Given the description of an element on the screen output the (x, y) to click on. 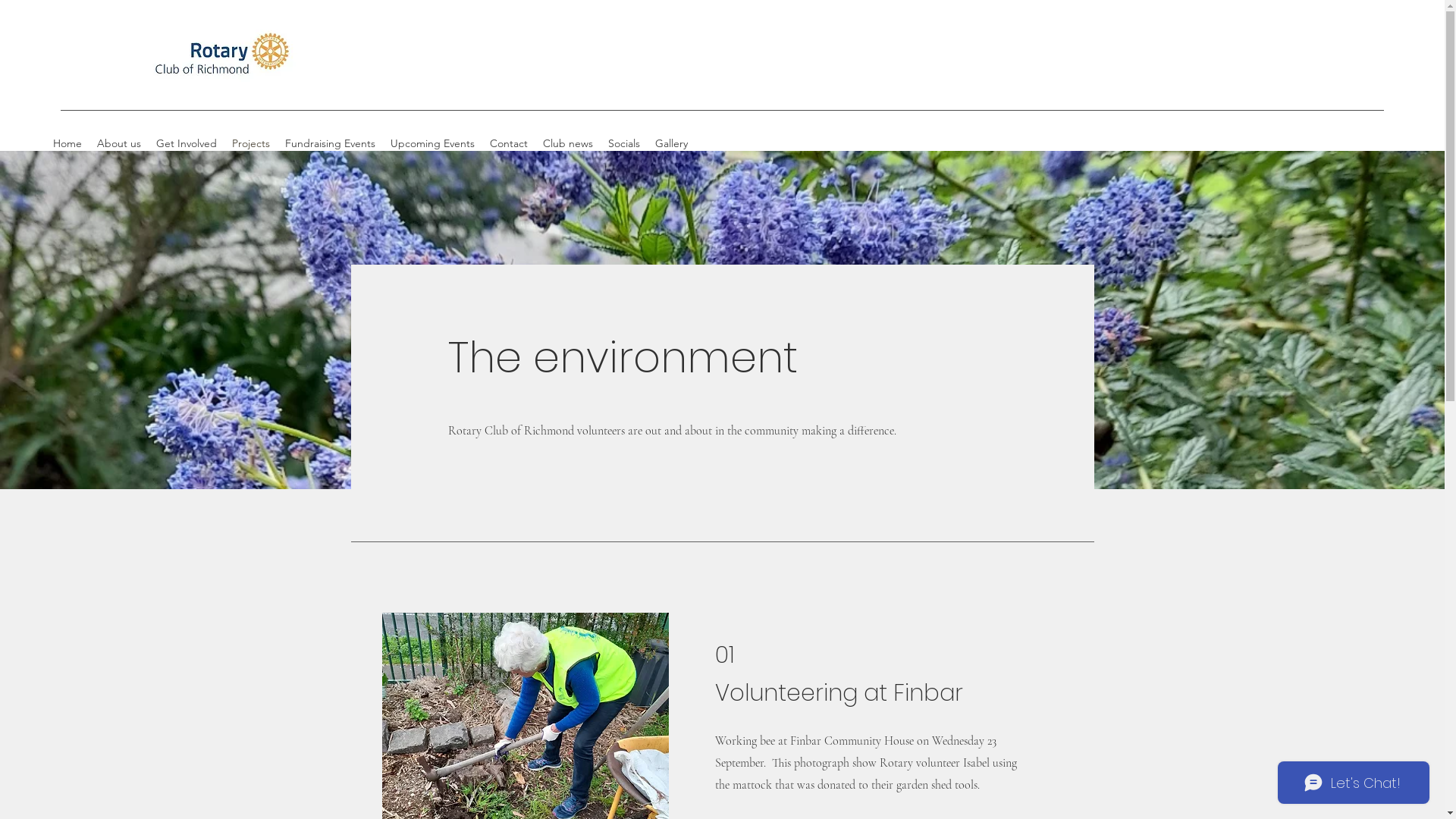
Upcoming Events Element type: text (432, 142)
About us Element type: text (118, 142)
Club news Element type: text (567, 142)
Contact Element type: text (508, 142)
Gallery Element type: text (671, 142)
Projects Element type: text (250, 142)
Get Involved Element type: text (186, 142)
Socials Element type: text (623, 142)
Fundraising Events Element type: text (329, 142)
Home Element type: text (67, 142)
